Given the description of an element on the screen output the (x, y) to click on. 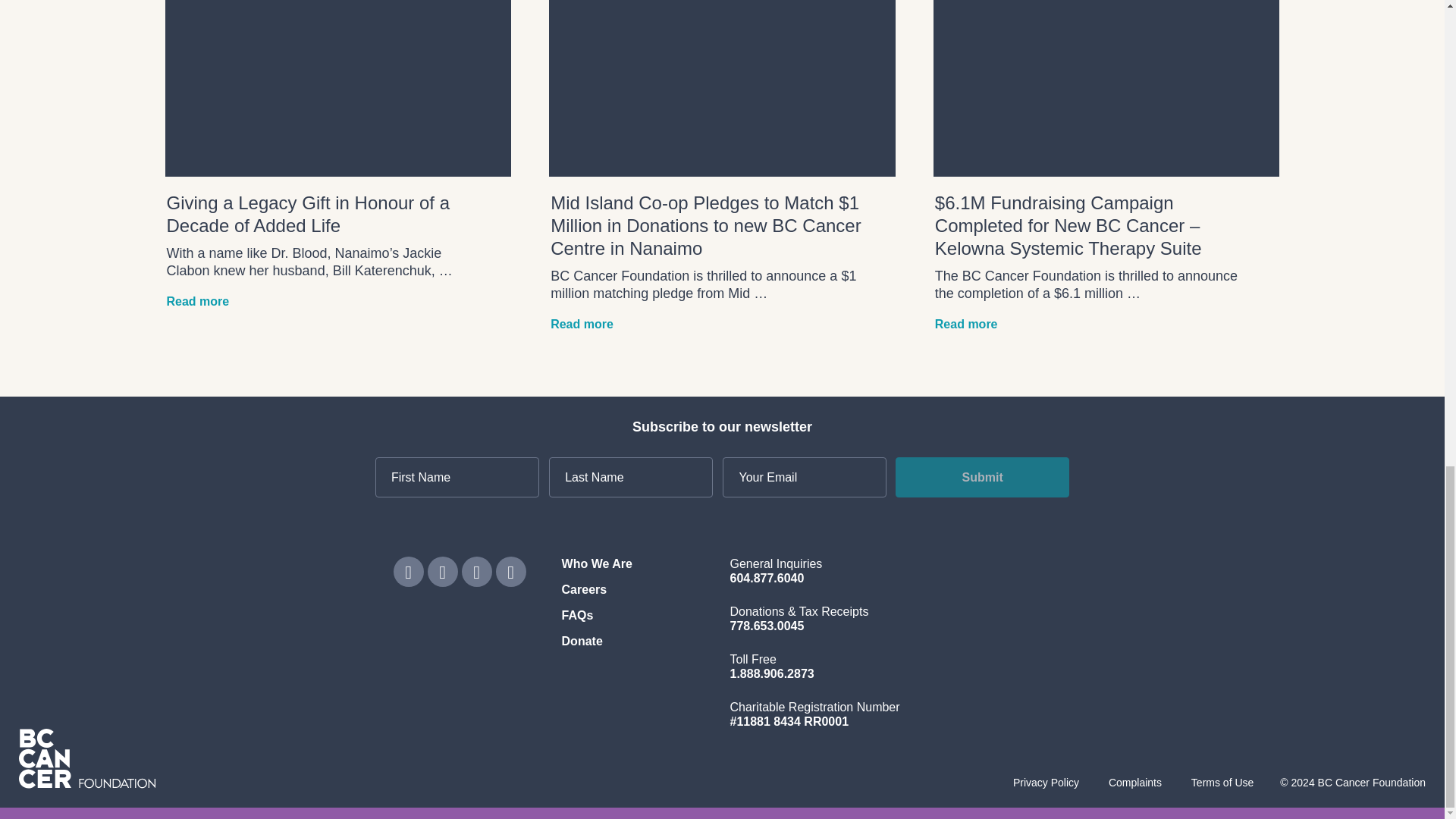
Submit (981, 477)
